Given the description of an element on the screen output the (x, y) to click on. 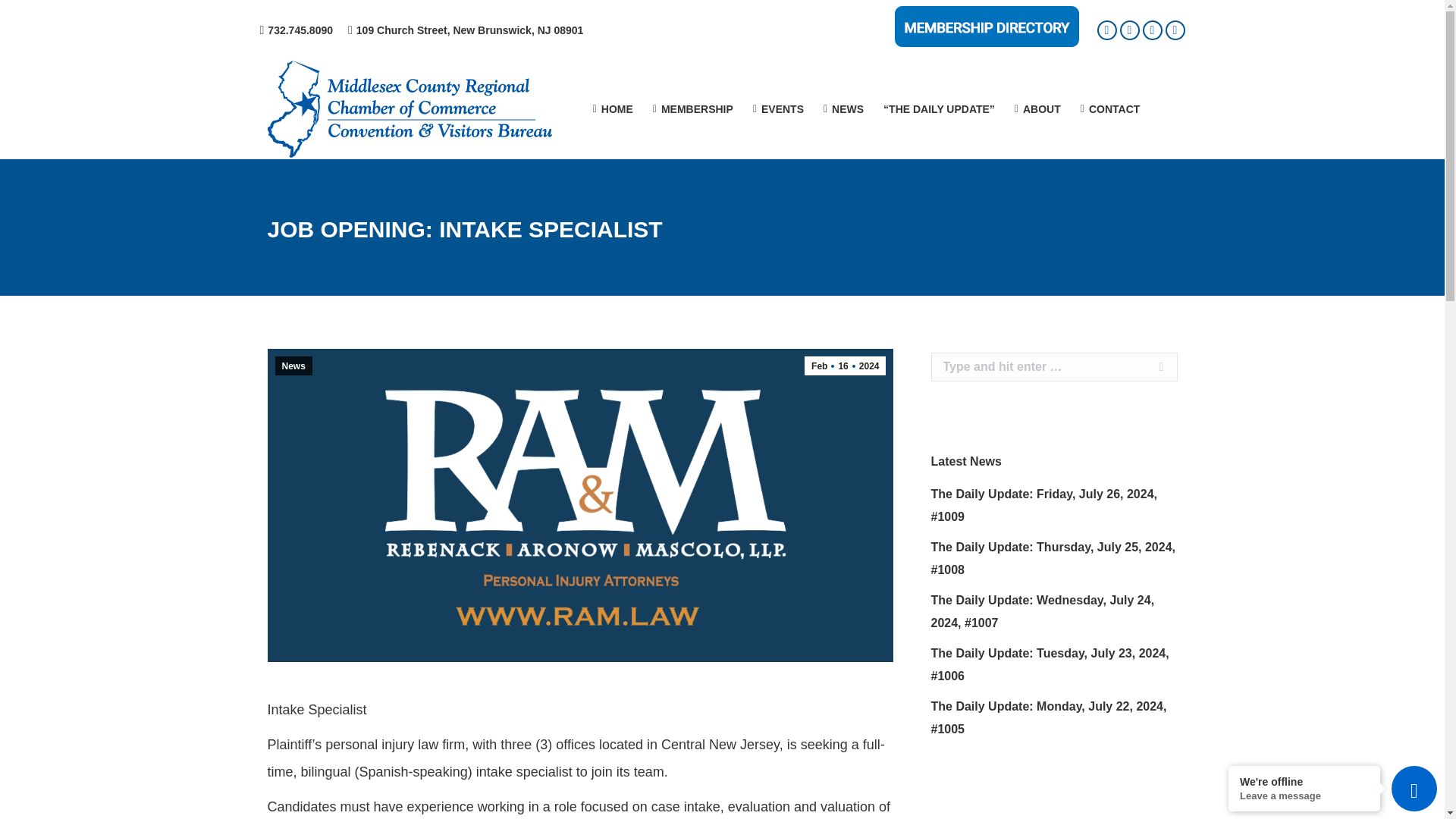
Go! (1153, 366)
MEMBERSHIP (692, 108)
Go! (1153, 366)
Facebook page opens in new window (1106, 29)
Instagram page opens in new window (1174, 29)
Facebook page opens in new window (1106, 29)
Linkedin page opens in new window (1128, 29)
Twitter page opens in new window (1151, 29)
Instagram page opens in new window (1174, 29)
11:40 am (845, 365)
Twitter page opens in new window (1151, 29)
732.745.8090 (300, 30)
Linkedin page opens in new window (1128, 29)
